Given the description of an element on the screen output the (x, y) to click on. 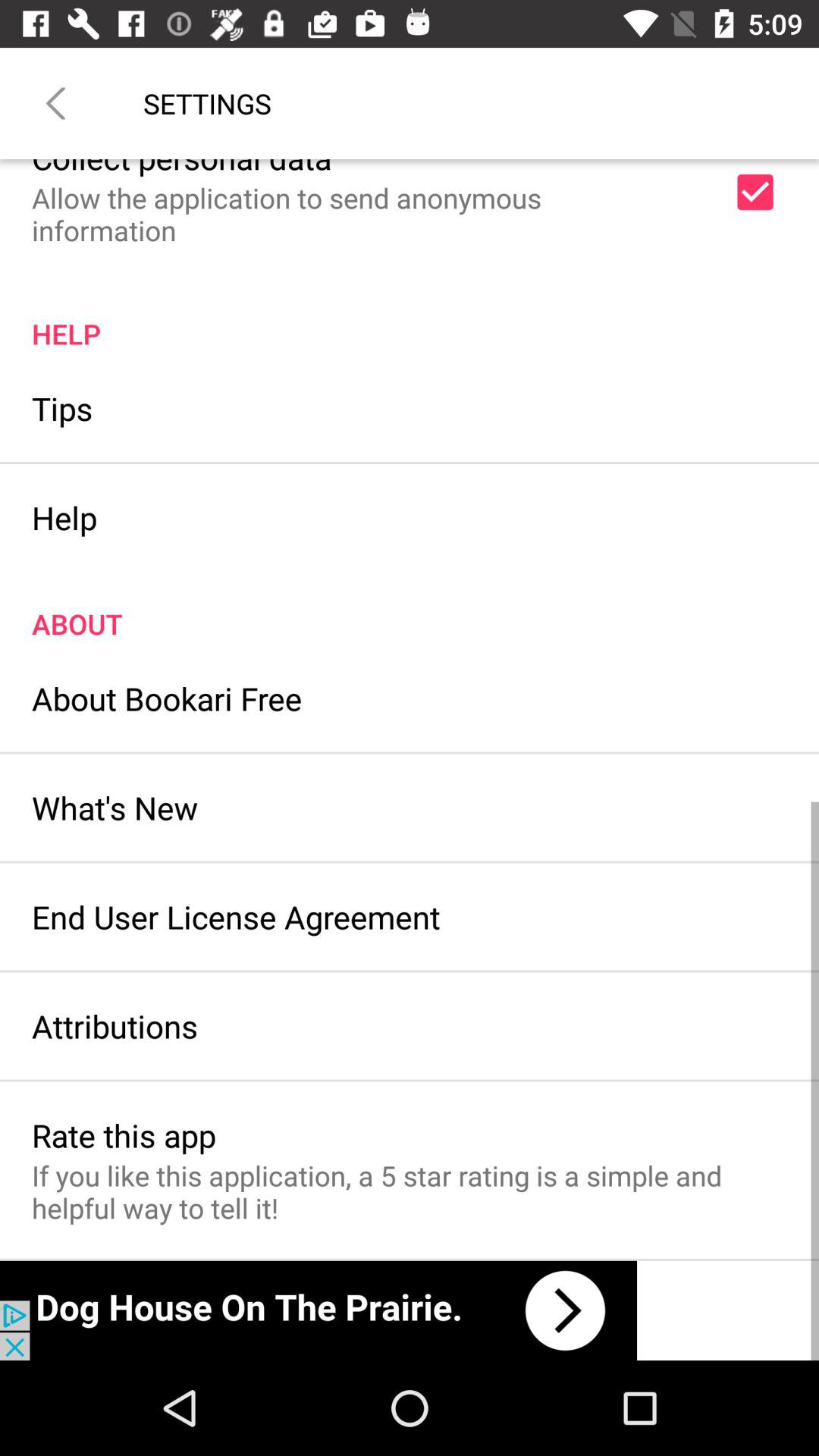
clickable advertisement (318, 1310)
